Given the description of an element on the screen output the (x, y) to click on. 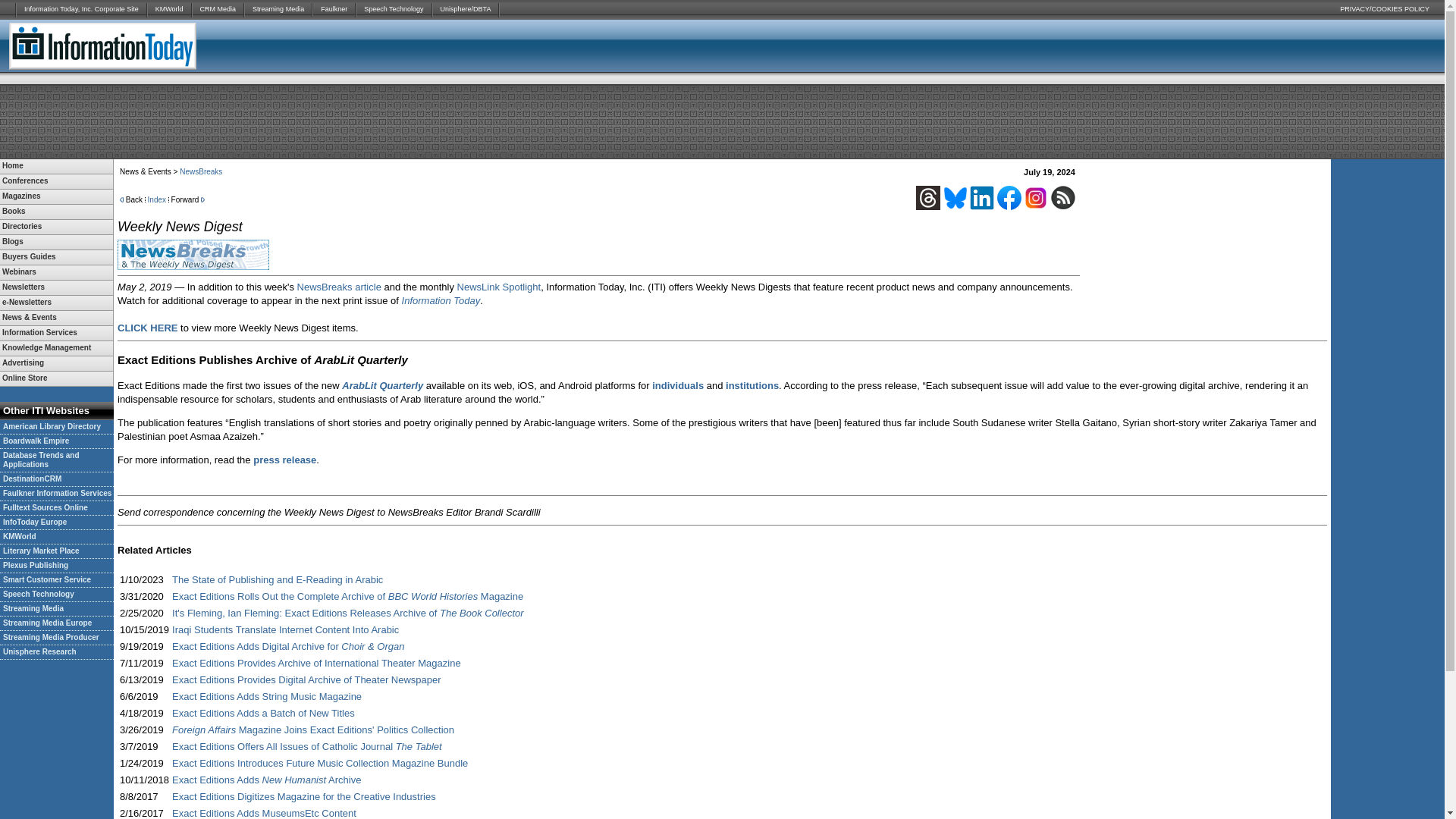
CRM Media (218, 9)
3rd party ad content (1263, 45)
Speech Technology (393, 9)
Streaming Media (277, 9)
Magazines (56, 196)
Home (56, 165)
3rd party ad content (721, 120)
Information Today, Inc. Corporate Site (81, 9)
Faulkner (334, 9)
KMWorld (169, 9)
Conferences (56, 181)
